Given the description of an element on the screen output the (x, y) to click on. 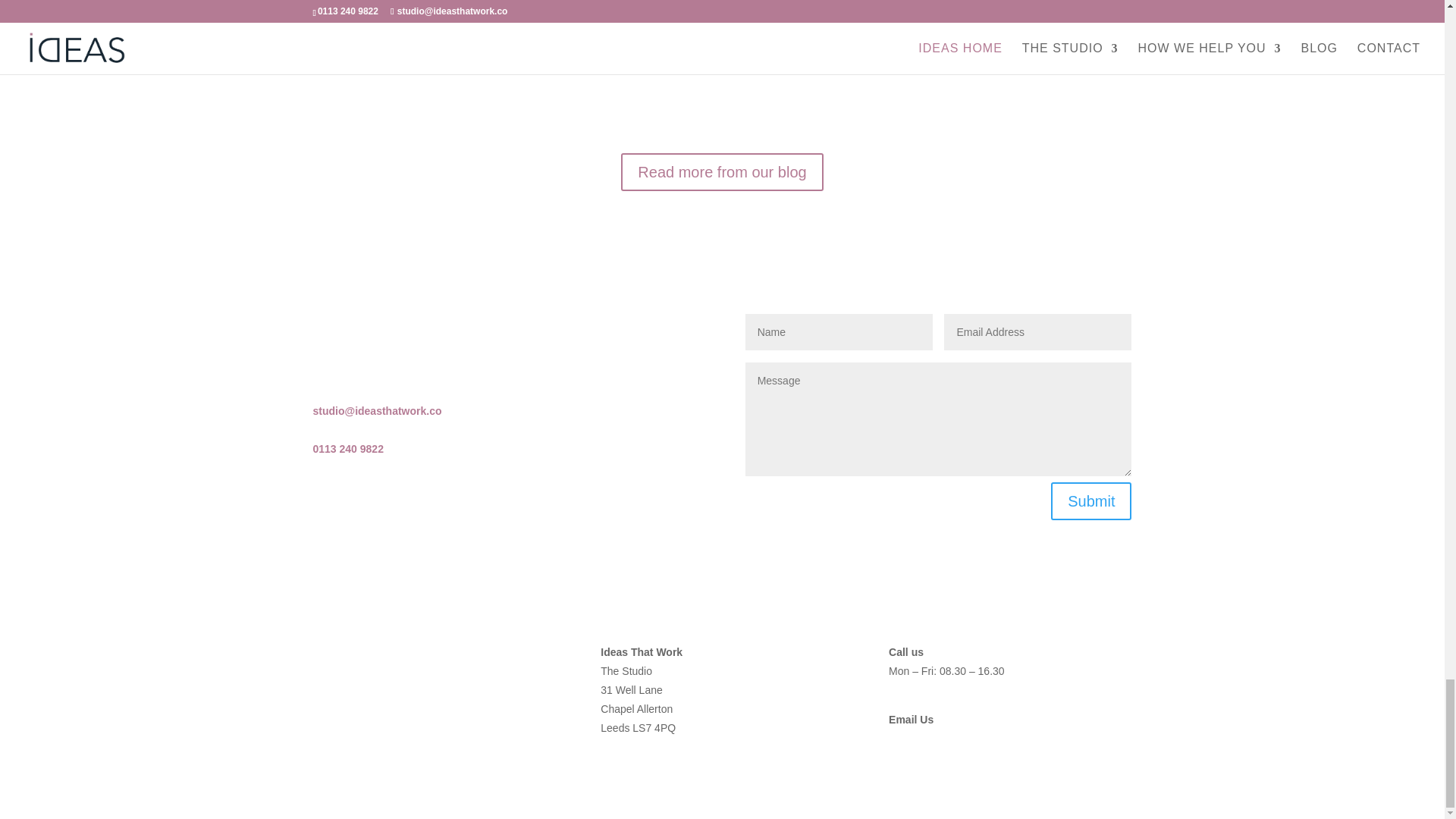
Read more from our blog (721, 171)
Submit (1091, 501)
0113 240 9822 (347, 449)
